Given the description of an element on the screen output the (x, y) to click on. 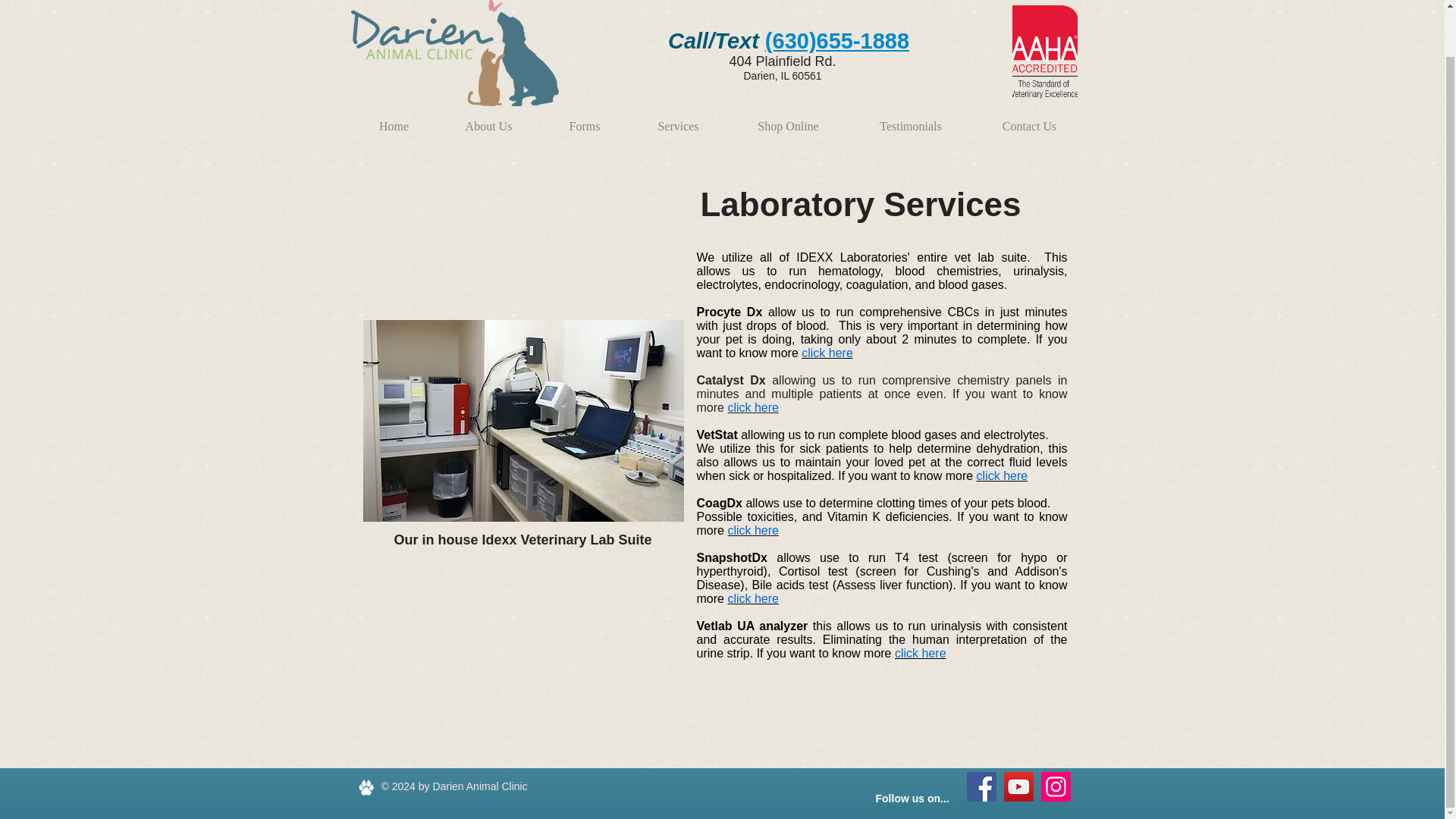
Contact Us (1029, 119)
click here (827, 352)
DSC01528.jpg (522, 420)
Home (393, 119)
click here (920, 653)
Forms (584, 119)
click here (752, 530)
click here (752, 407)
click here (752, 598)
Shop Online (788, 119)
click here (1001, 475)
Testimonials (910, 119)
Services (678, 119)
About Us (488, 119)
